Given the description of an element on the screen output the (x, y) to click on. 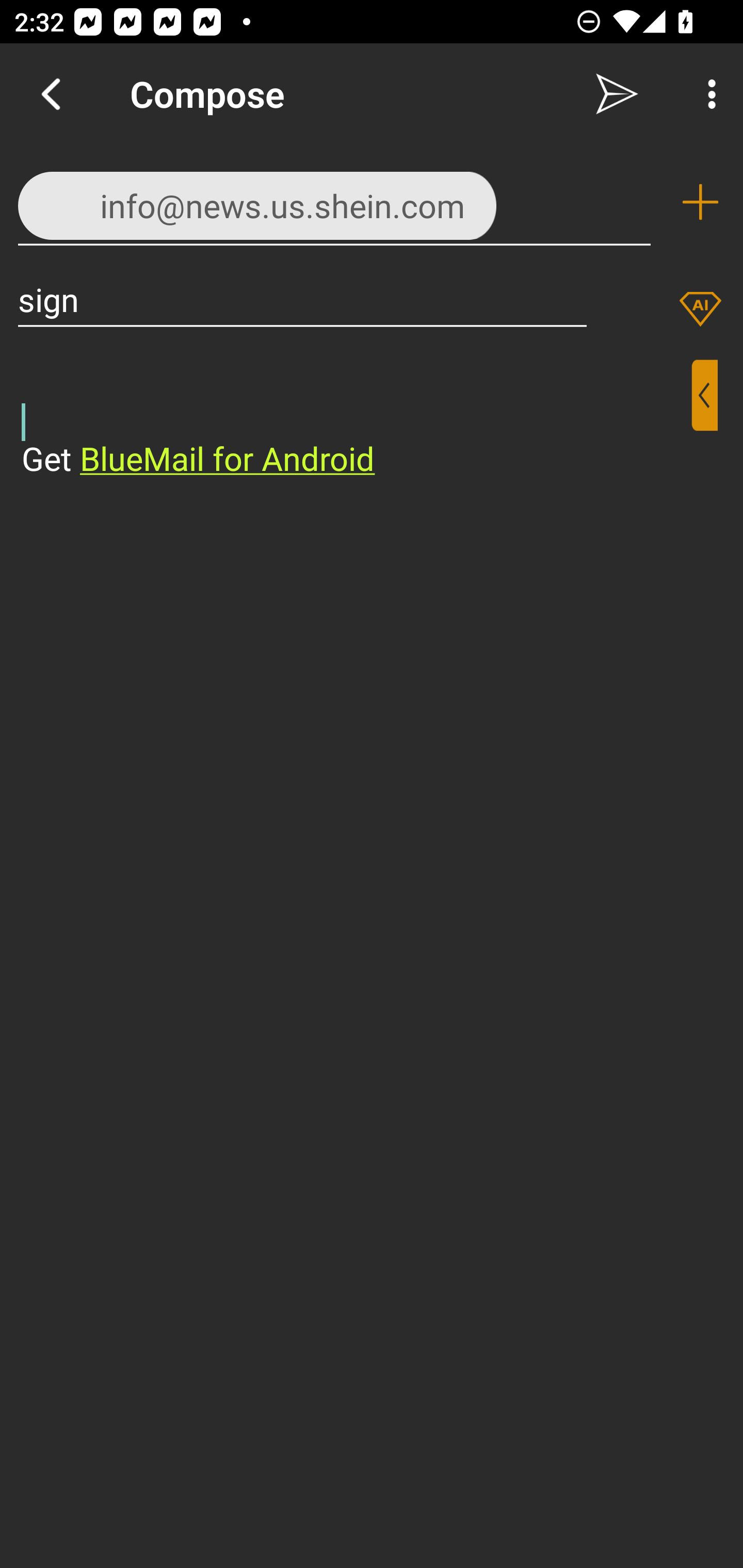
Navigate up (50, 93)
Send (616, 93)
More Options (706, 93)
<info@news.us.shein.com>,  (334, 201)
Add recipient (To) (699, 201)
sign (302, 299)


⁣Get BlueMail for Android ​ (355, 419)
